Given the description of an element on the screen output the (x, y) to click on. 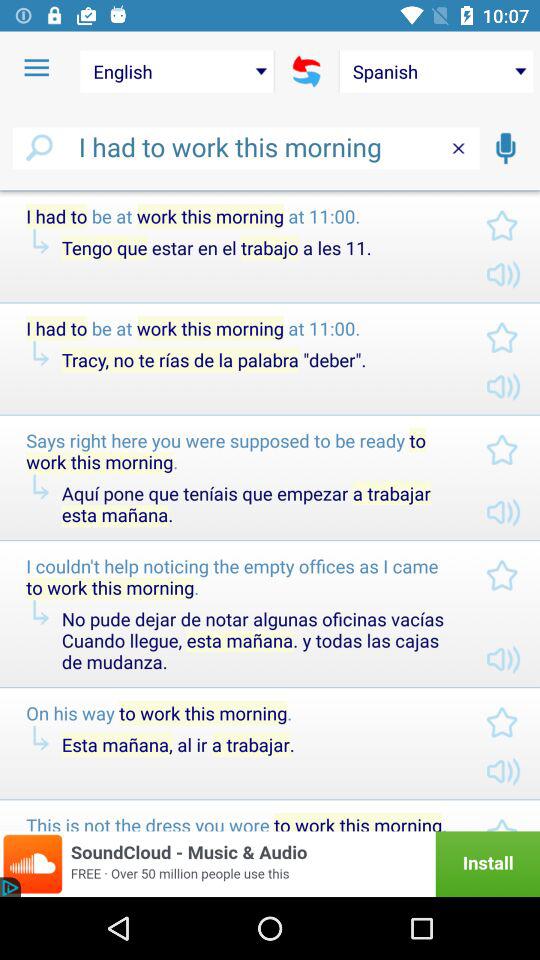
tap the icon above i had to icon (36, 68)
